Given the description of an element on the screen output the (x, y) to click on. 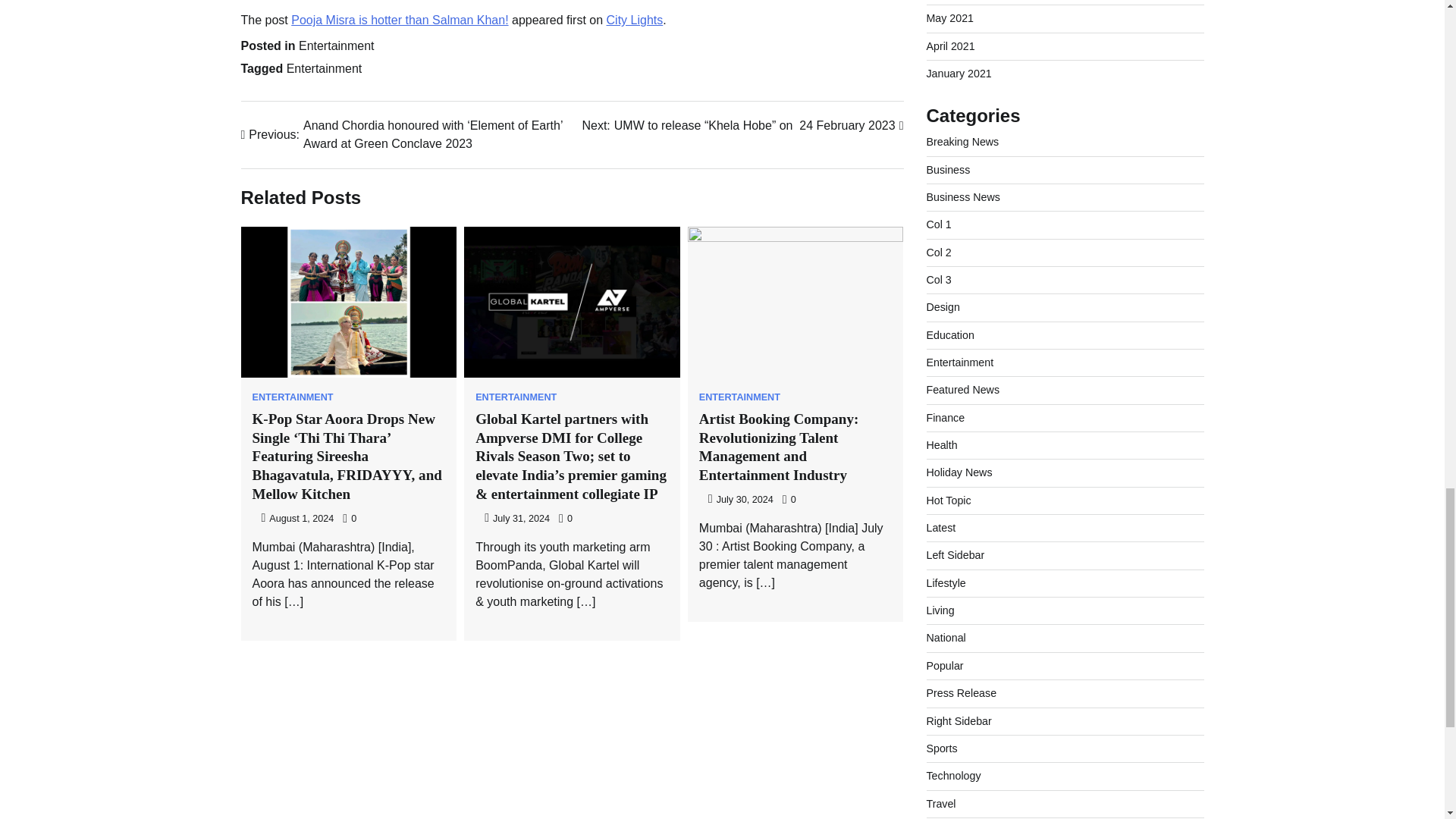
Pooja Misra is hotter than Salman Khan! (399, 19)
Entertainment (336, 45)
City Lights (635, 19)
Entertainment (324, 68)
ENTERTAINMENT (292, 397)
ENTERTAINMENT (739, 397)
ENTERTAINMENT (516, 397)
